Given the description of an element on the screen output the (x, y) to click on. 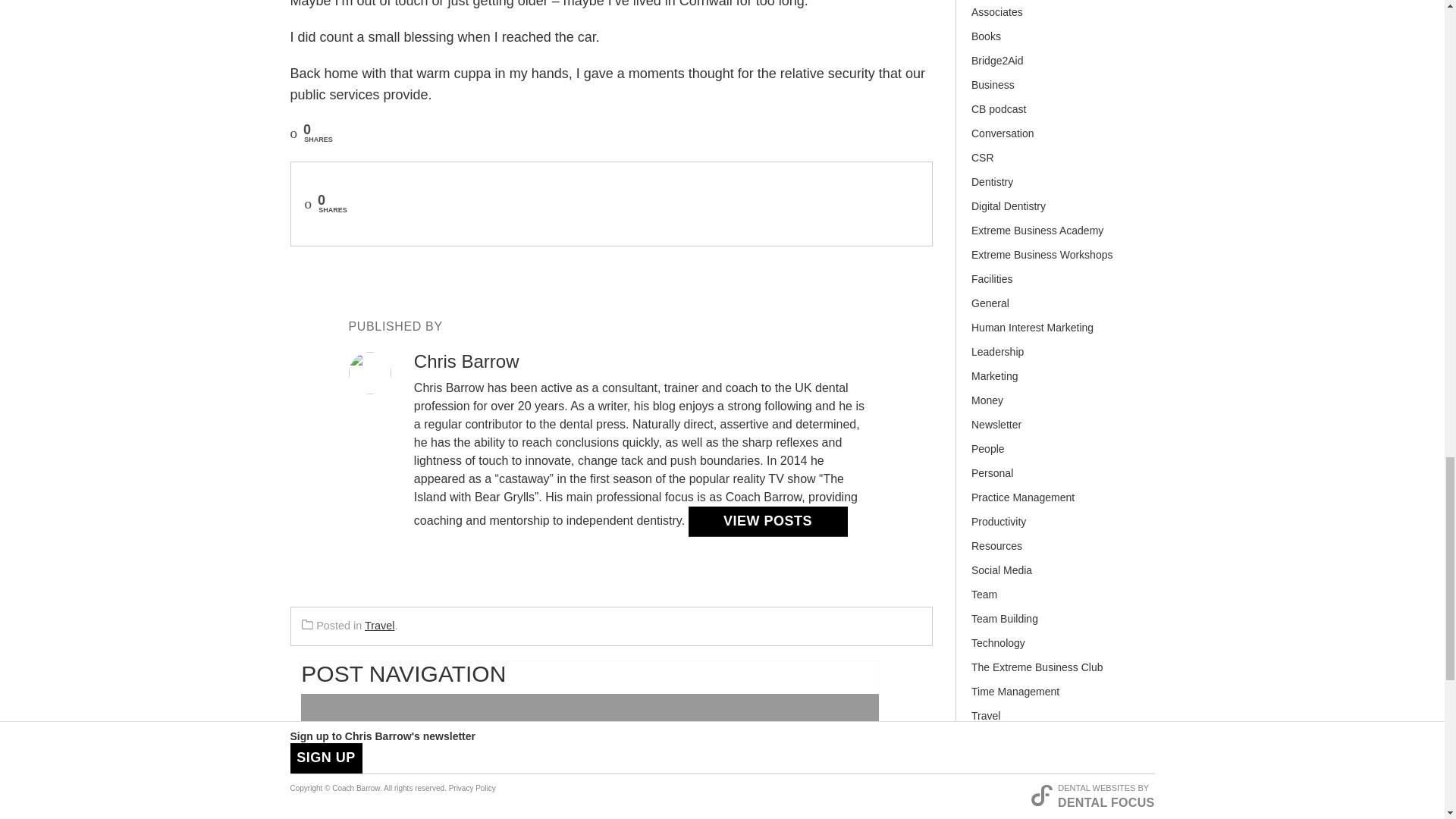
Books (1056, 39)
Bridge2Aid (1056, 64)
CB podcast (1056, 112)
Extreme Business Academy (1056, 233)
Conversation (1056, 137)
Facilities (1056, 282)
Digital Dentistry (1056, 209)
General (1056, 306)
Associates (1056, 15)
Travel (379, 625)
Advertising (1056, 2)
VIEW POSTS (767, 521)
Business (1056, 88)
Dentistry (590, 756)
